Given the description of an element on the screen output the (x, y) to click on. 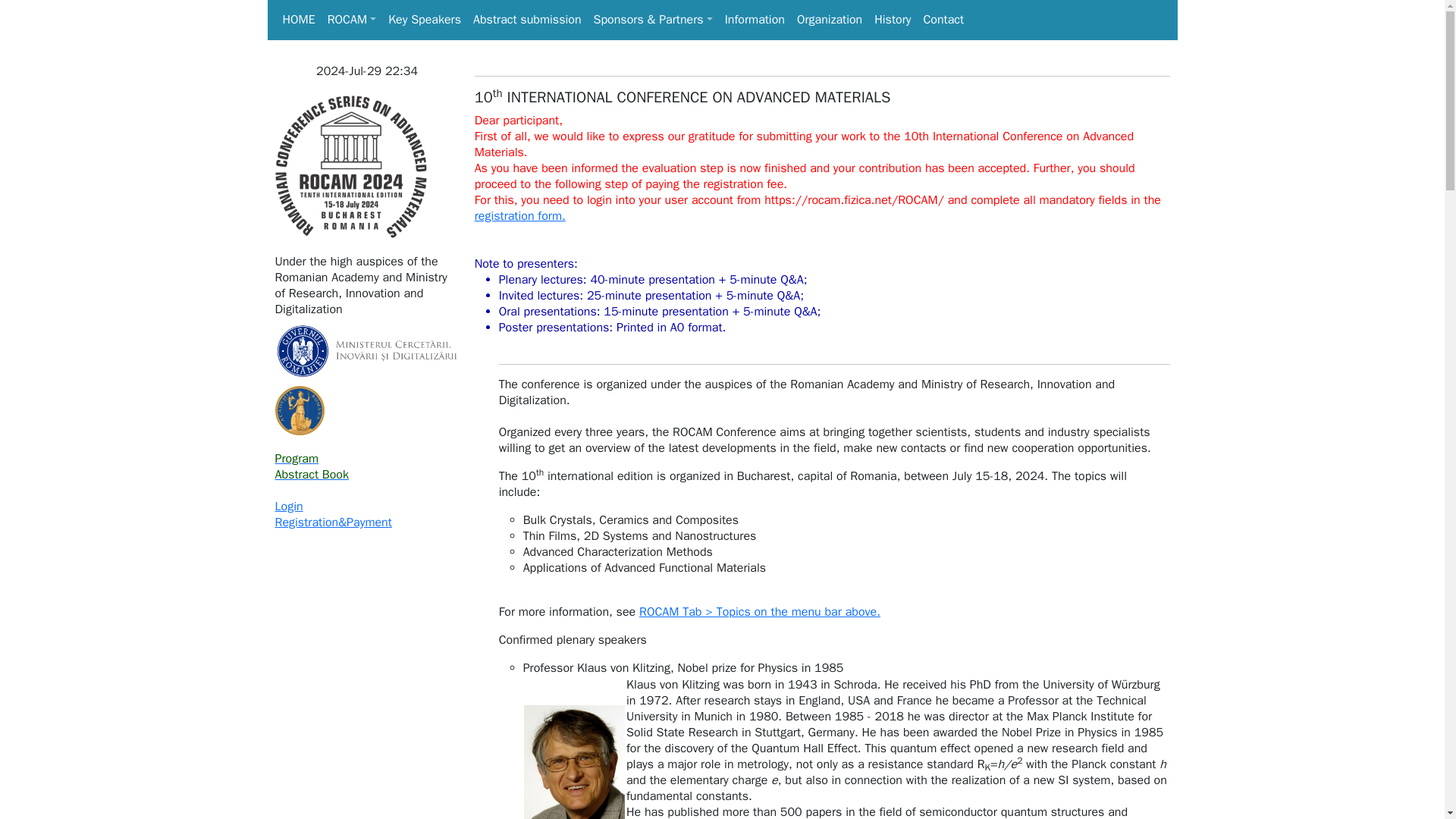
Abstract submission (527, 19)
History (892, 19)
Abstract Book (311, 474)
Organization (828, 19)
Information (754, 19)
Key Speakers (424, 19)
HOME (298, 19)
ROCAM (351, 19)
registration form. (520, 215)
Contact (943, 19)
Login (288, 506)
Program (296, 458)
